Given the description of an element on the screen output the (x, y) to click on. 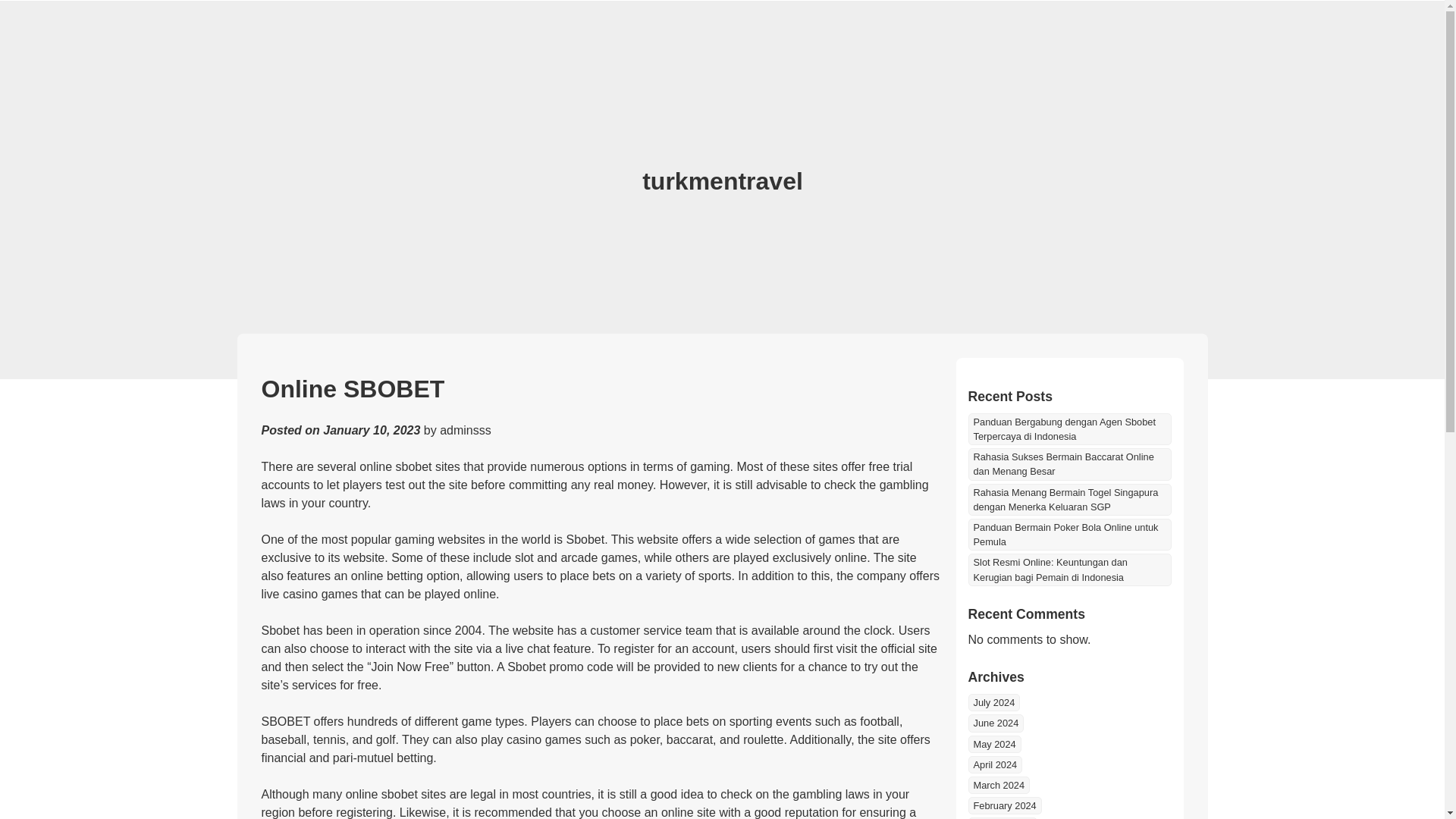
July 2024 (994, 702)
March 2024 (998, 784)
January 2024 (1002, 818)
May 2024 (994, 743)
Rahasia Sukses Bermain Baccarat Online dan Menang Besar (1069, 463)
June 2024 (995, 723)
January 10, 2023 (371, 430)
adminsss (465, 430)
Panduan Bergabung dengan Agen Sbobet Terpercaya di Indonesia (1069, 429)
Panduan Bermain Poker Bola Online untuk Pemula (1069, 534)
April 2024 (995, 764)
February 2024 (1004, 805)
